Given the description of an element on the screen output the (x, y) to click on. 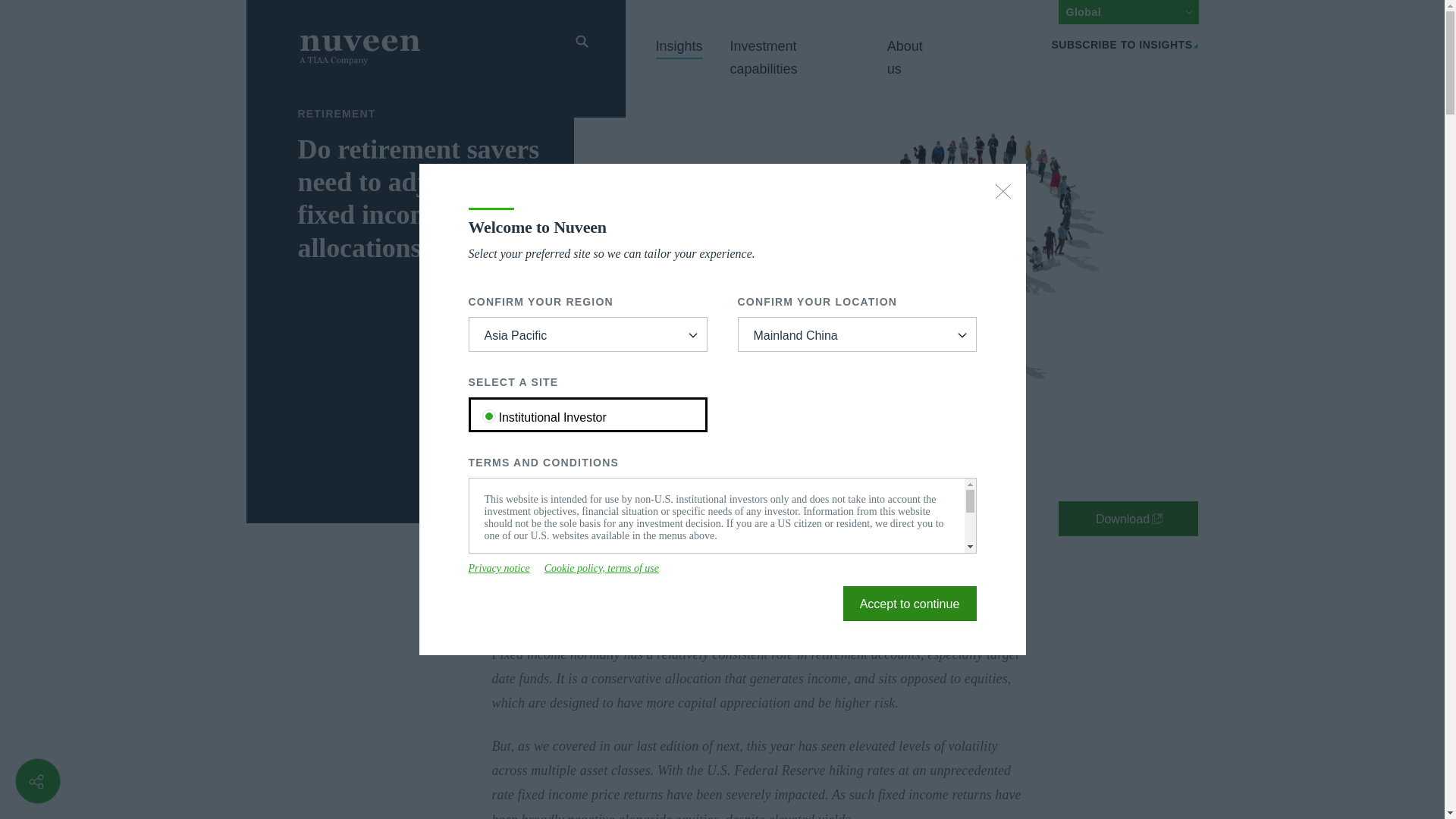
opens in a new window (498, 568)
opens in the same window (909, 603)
SUBSCRIBE TO INSIGHTS (1124, 44)
Skip to main content (236, 9)
Global (1128, 12)
opens in a new window (601, 568)
opens in a new window (1128, 518)
